Given the description of an element on the screen output the (x, y) to click on. 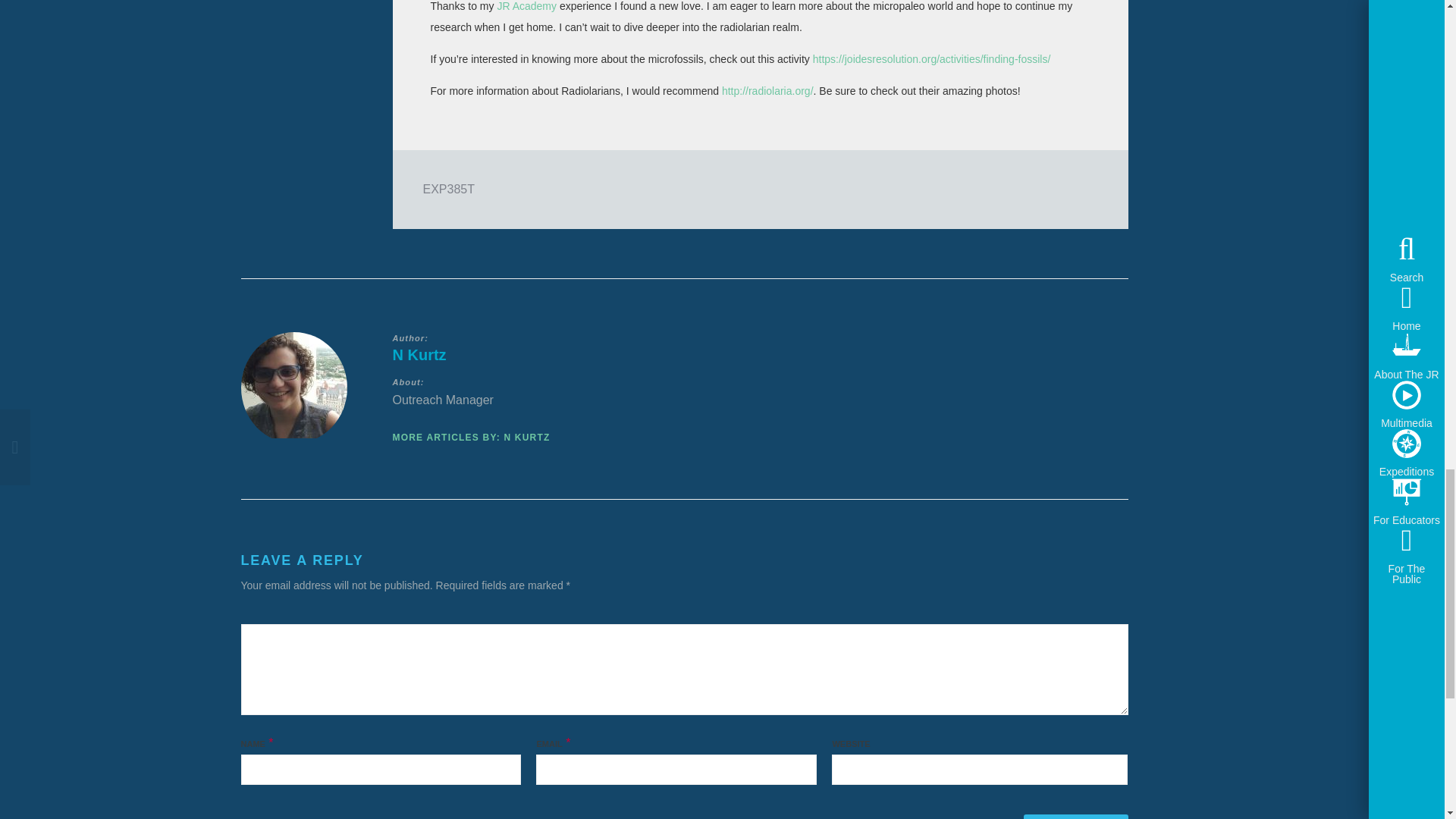
Post Comment (1075, 816)
JR Academy (526, 6)
Post Comment (1075, 816)
MORE ARTICLES BY: N KURTZ (471, 437)
EXP385T (448, 188)
